Given the description of an element on the screen output the (x, y) to click on. 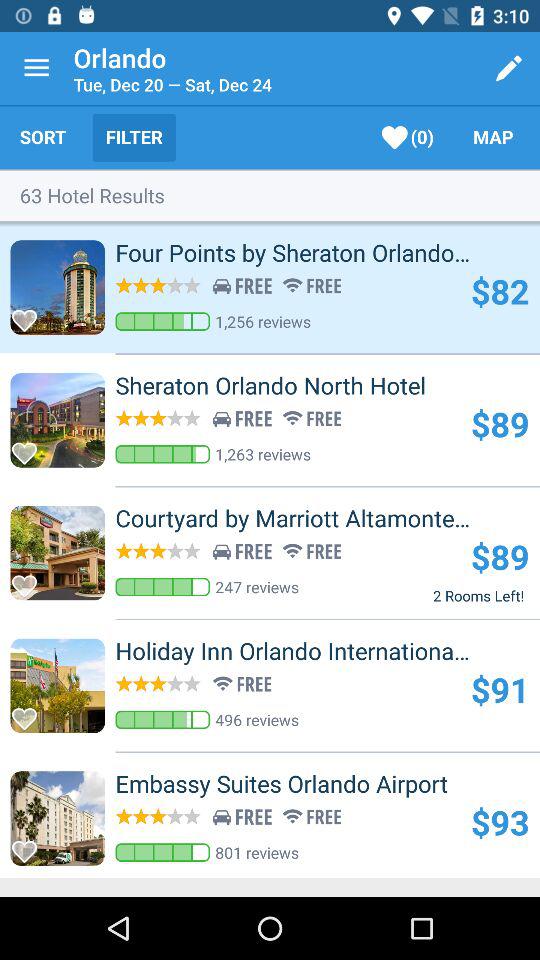
click icon to the right of (0) icon (493, 137)
